Given the description of an element on the screen output the (x, y) to click on. 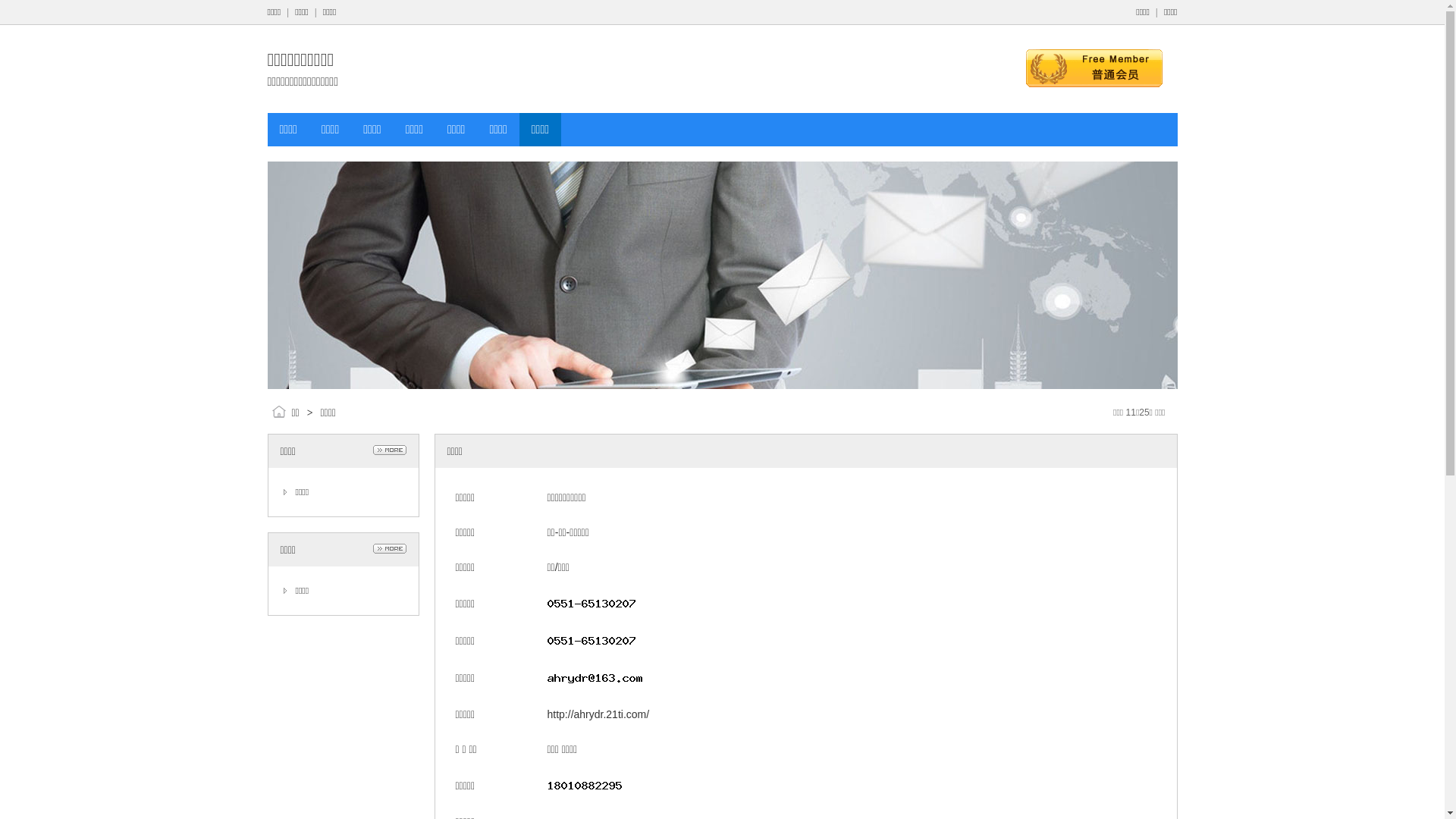
http://ahrydr.21ti.com/ Element type: text (598, 714)
